Given the description of an element on the screen output the (x, y) to click on. 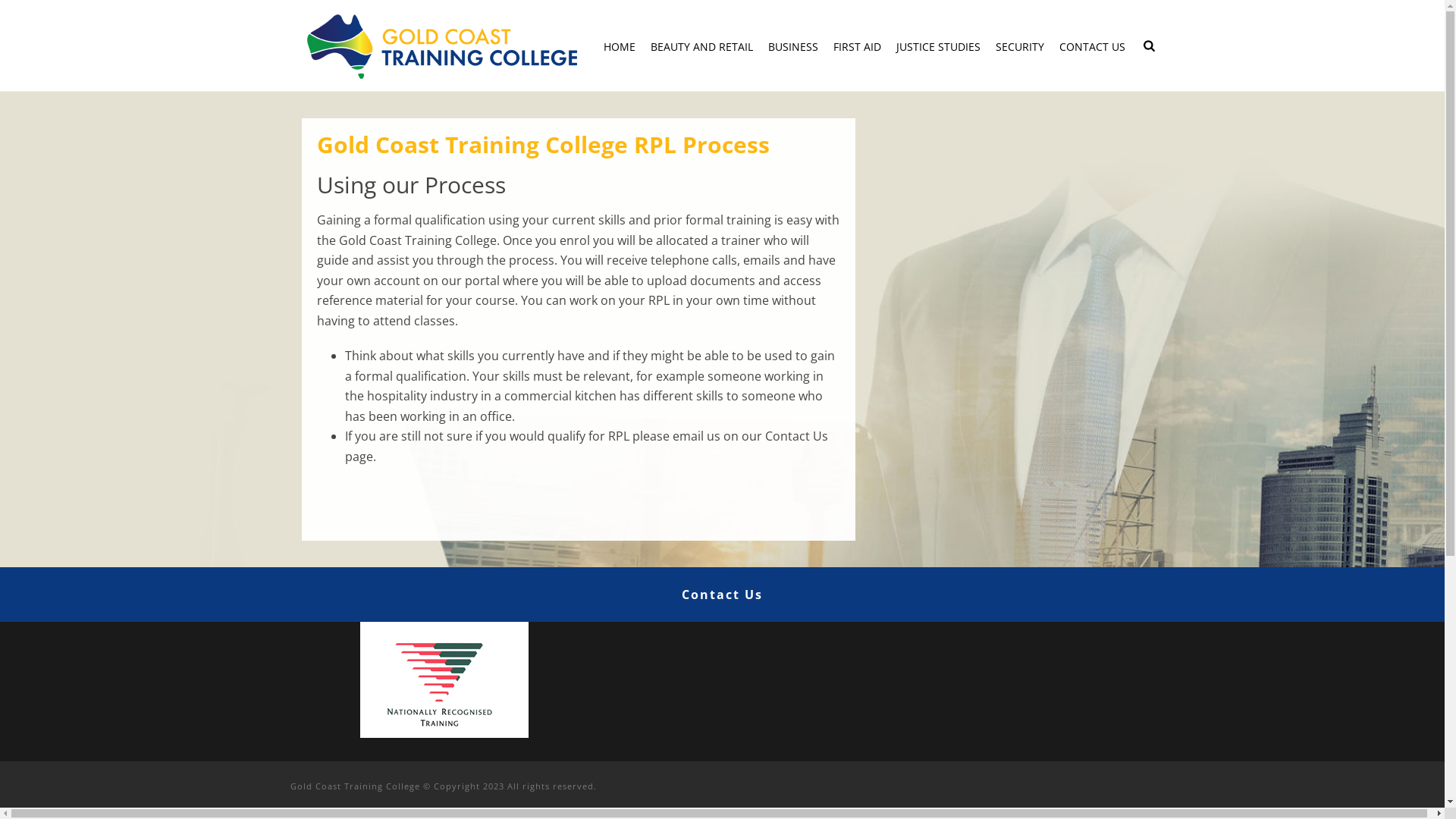
BEAUTY AND RETAIL Element type: text (701, 46)
Terms & Conditions Element type: text (664, 466)
07 5528 3591 Element type: text (374, 378)
Smart and Skilled Element type: text (659, 384)
Follow Us on twitter Element type: hover (943, 340)
ASQA Audit Report Element type: text (662, 411)
info@gctrainingcollege.com.au Element type: text (419, 447)
Fees payment plans & terms and conditions Element type: text (721, 345)
Privacy Policy Element type: text (648, 439)
HOME Element type: text (619, 46)
BUSINESS Element type: text (792, 46)
FIRST AID Element type: text (856, 46)
Gold coast Training Element type: hover (441, 45)
SECURITY Element type: text (1019, 46)
CONTACT US Element type: text (1091, 46)
JUSTICE STUDIES Element type: text (938, 46)
Follow Us on facebook Element type: hover (899, 340)
